Given the description of an element on the screen output the (x, y) to click on. 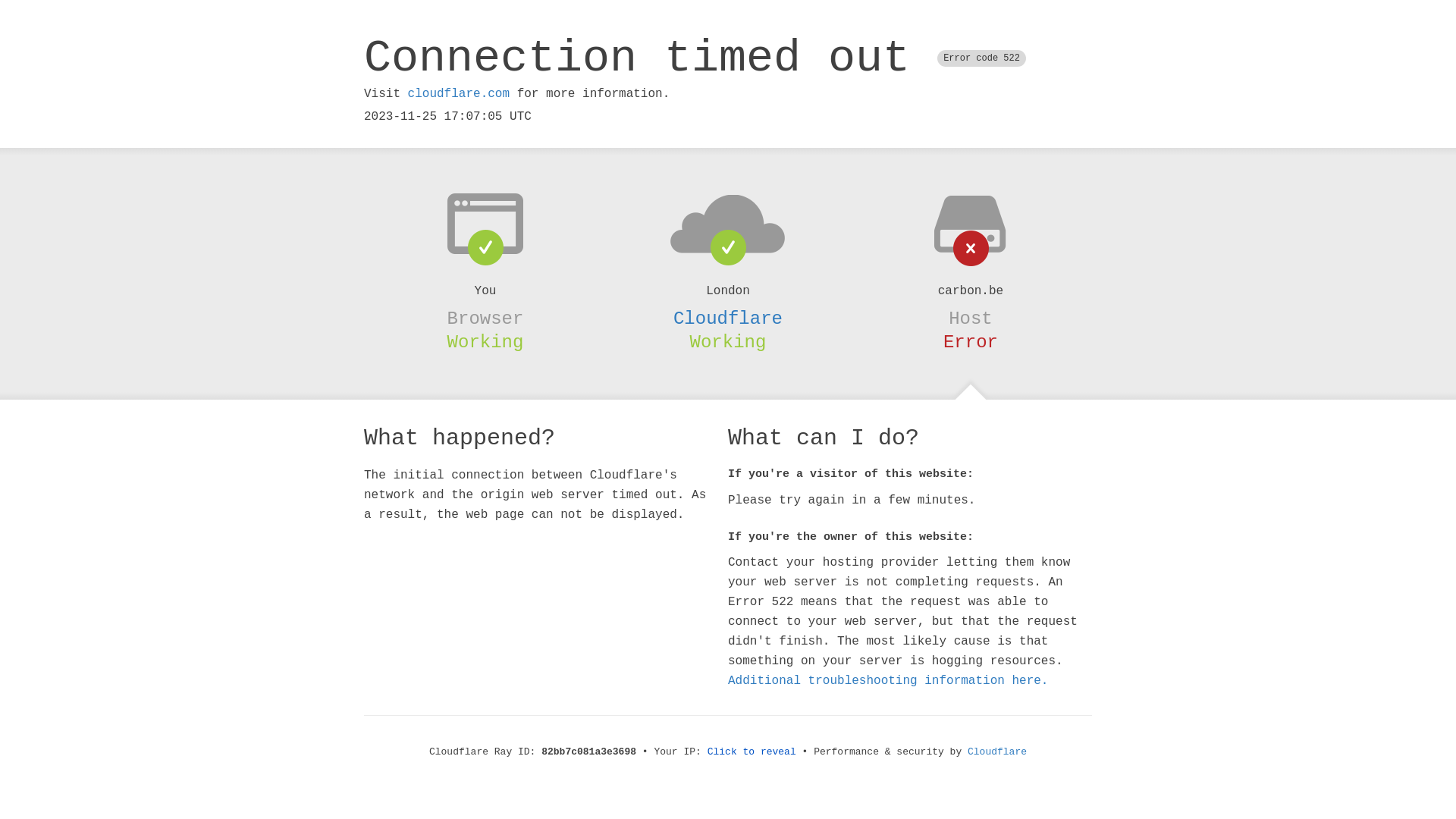
cloudflare.com Element type: text (458, 93)
Click to reveal Element type: text (751, 751)
Additional troubleshooting information here. Element type: text (888, 680)
Cloudflare Element type: text (727, 318)
Cloudflare Element type: text (996, 751)
